Given the description of an element on the screen output the (x, y) to click on. 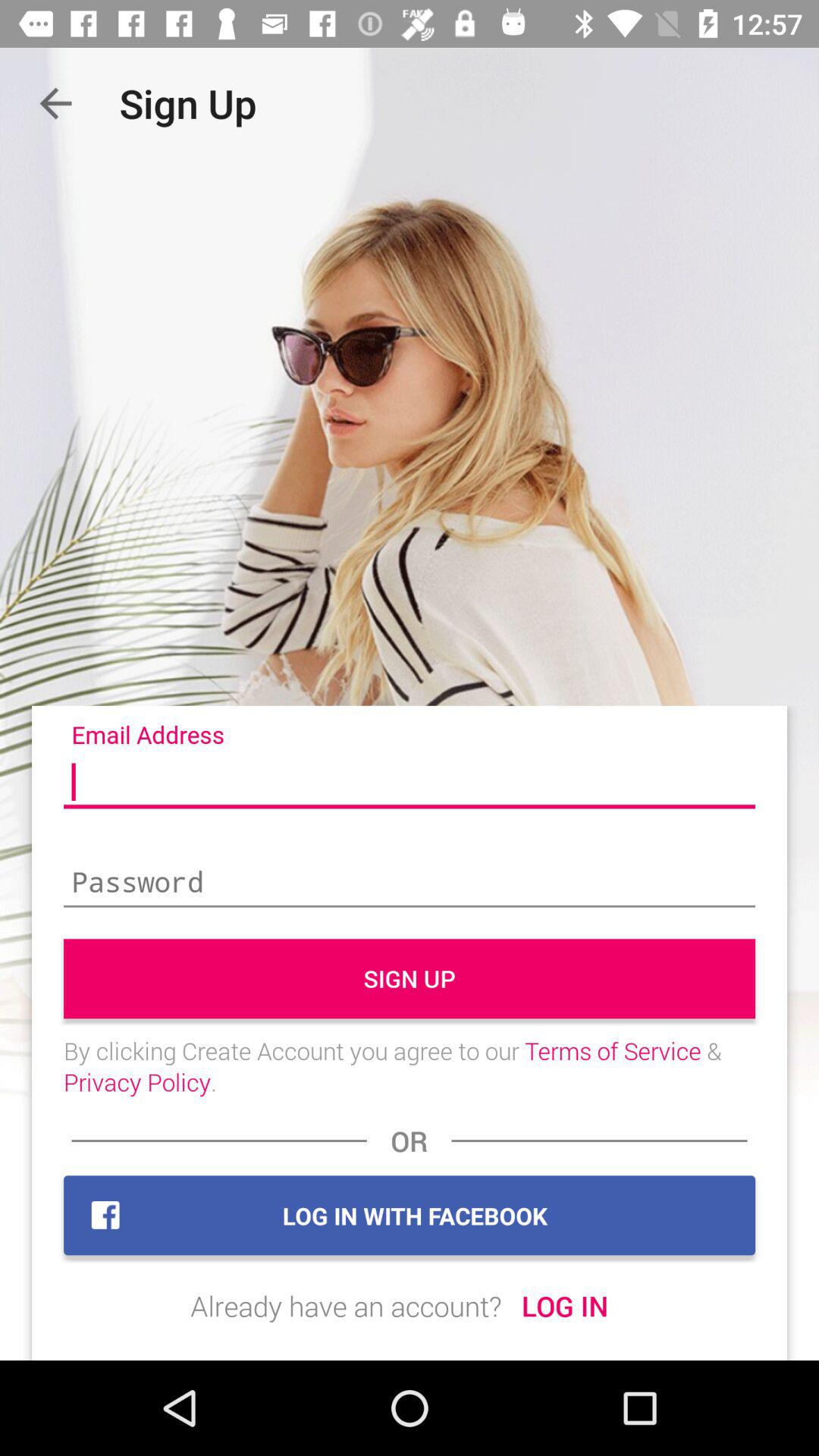
fill in the email address (409, 782)
